Given the description of an element on the screen output the (x, y) to click on. 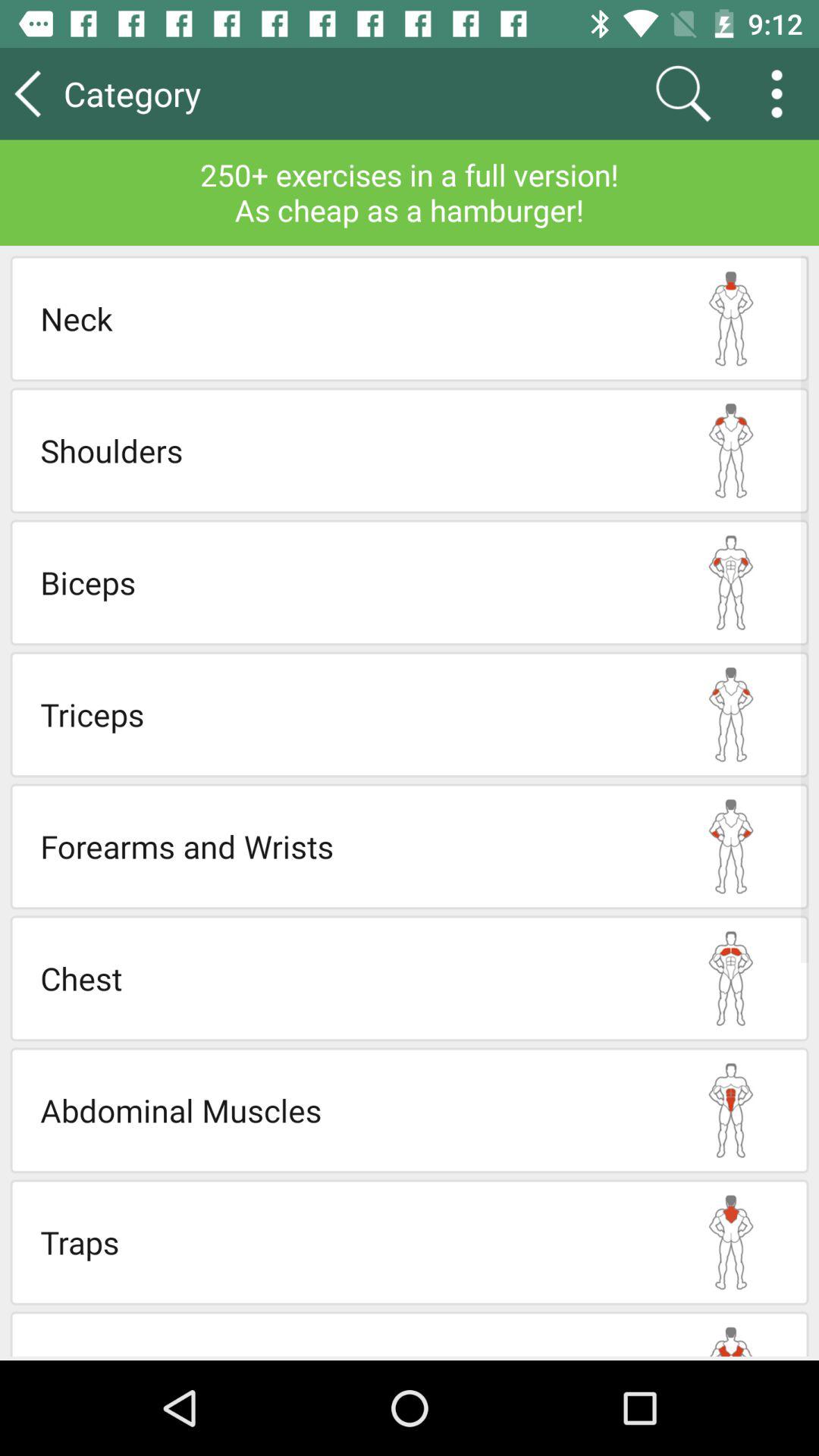
turn off traps app (346, 1242)
